Given the description of an element on the screen output the (x, y) to click on. 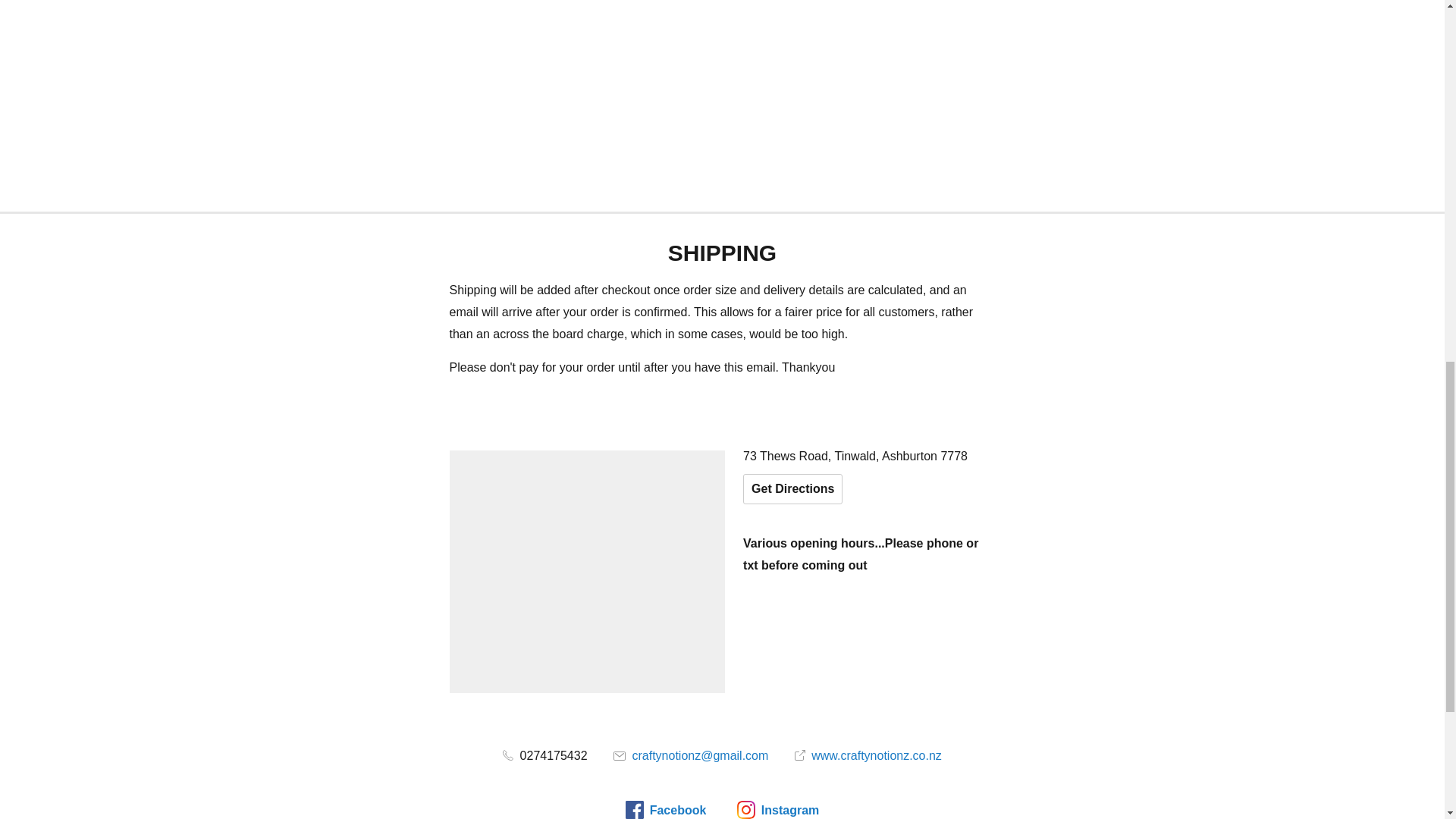
Facebook (666, 809)
Instagram (777, 809)
Get Directions (792, 489)
www.craftynotionz.co.nz (868, 755)
0274175432 (544, 755)
Location on map (586, 571)
